Given the description of an element on the screen output the (x, y) to click on. 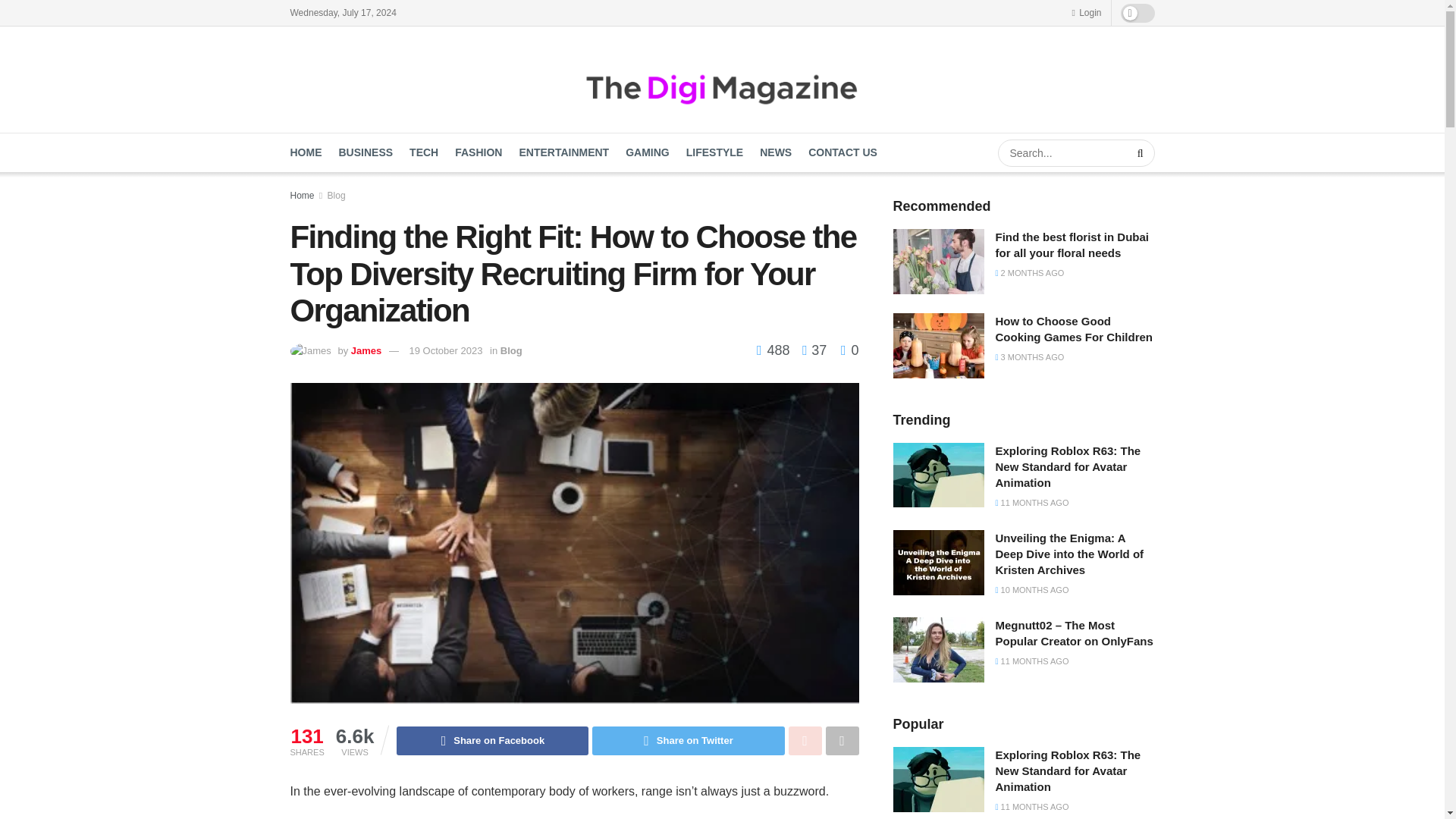
BUSINESS (365, 152)
0 (850, 350)
Blog (336, 195)
FASHION (478, 152)
Share on Facebook (492, 740)
GAMING (647, 152)
Share on Twitter (688, 740)
Blog (511, 350)
ENTERTAINMENT (563, 152)
CONTACT US (842, 152)
37 (810, 350)
19 October 2023 (446, 350)
488 (775, 350)
James (365, 350)
Home (301, 195)
